Given the description of an element on the screen output the (x, y) to click on. 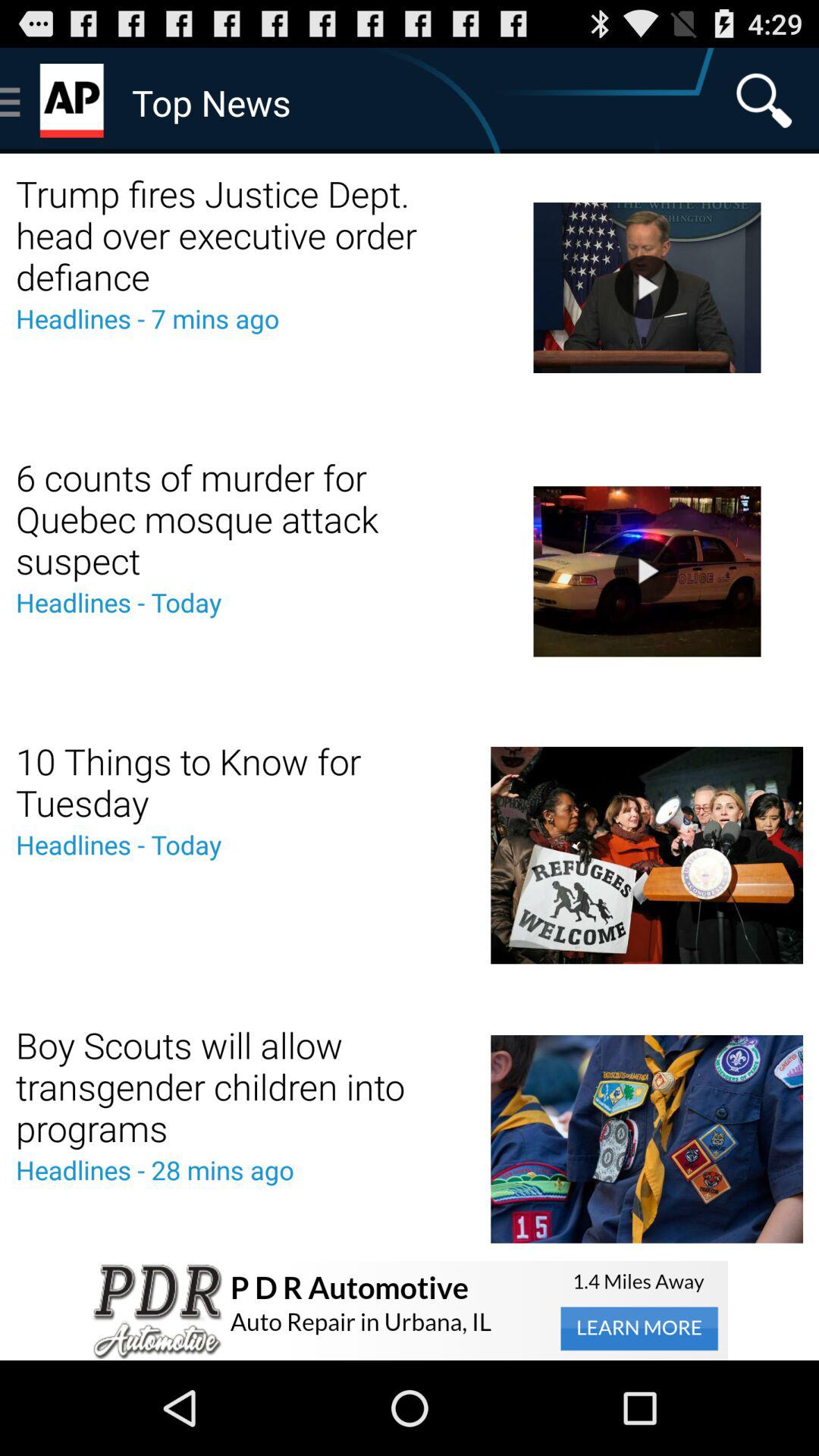
click the video which is beside the trump fires justice dept head over executive order defiance (646, 288)
select the first image from bottom of page (646, 1138)
select the icon which is left to the top news (74, 101)
go to image from bottom 2nd one on the right side (646, 854)
click on play button which has a text 6 counts of murder for quebec mosque attack suspect (646, 570)
